Given the description of an element on the screen output the (x, y) to click on. 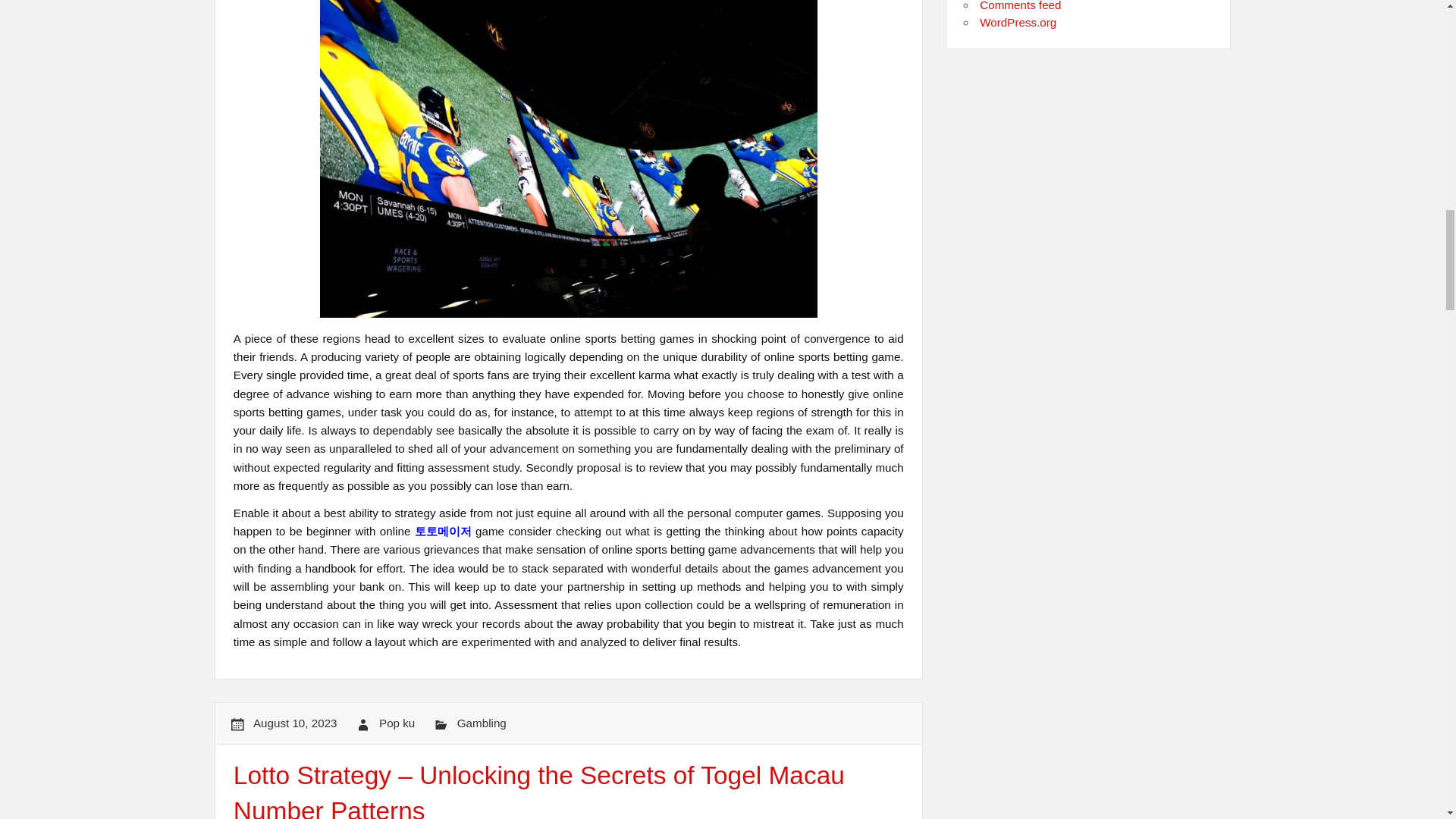
Gambling (481, 722)
View all posts by Pop ku (396, 722)
Pop ku (396, 722)
11:56 am (295, 722)
August 10, 2023 (295, 722)
